Given the description of an element on the screen output the (x, y) to click on. 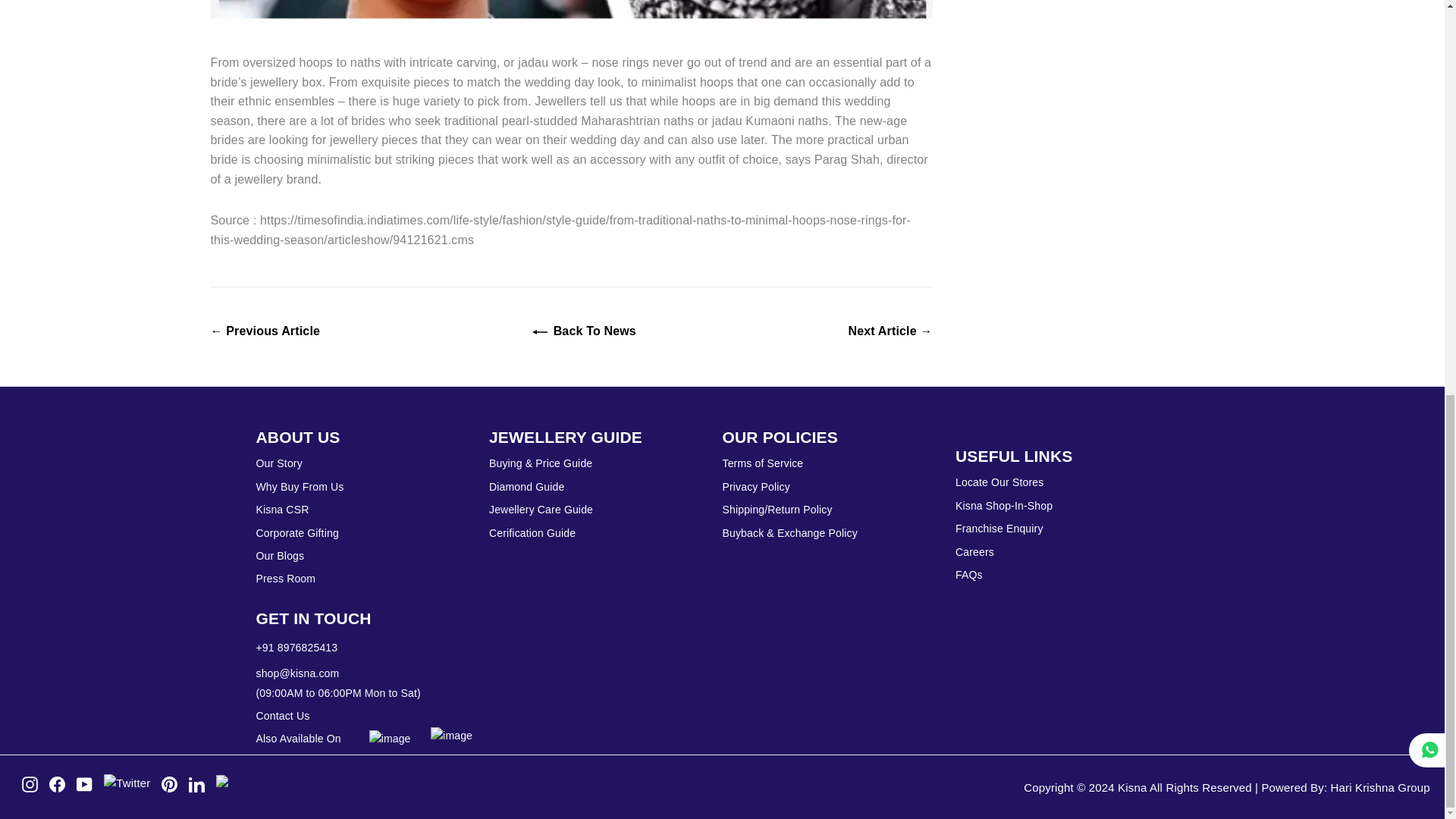
Kisna on Twitter (126, 782)
